Given the description of an element on the screen output the (x, y) to click on. 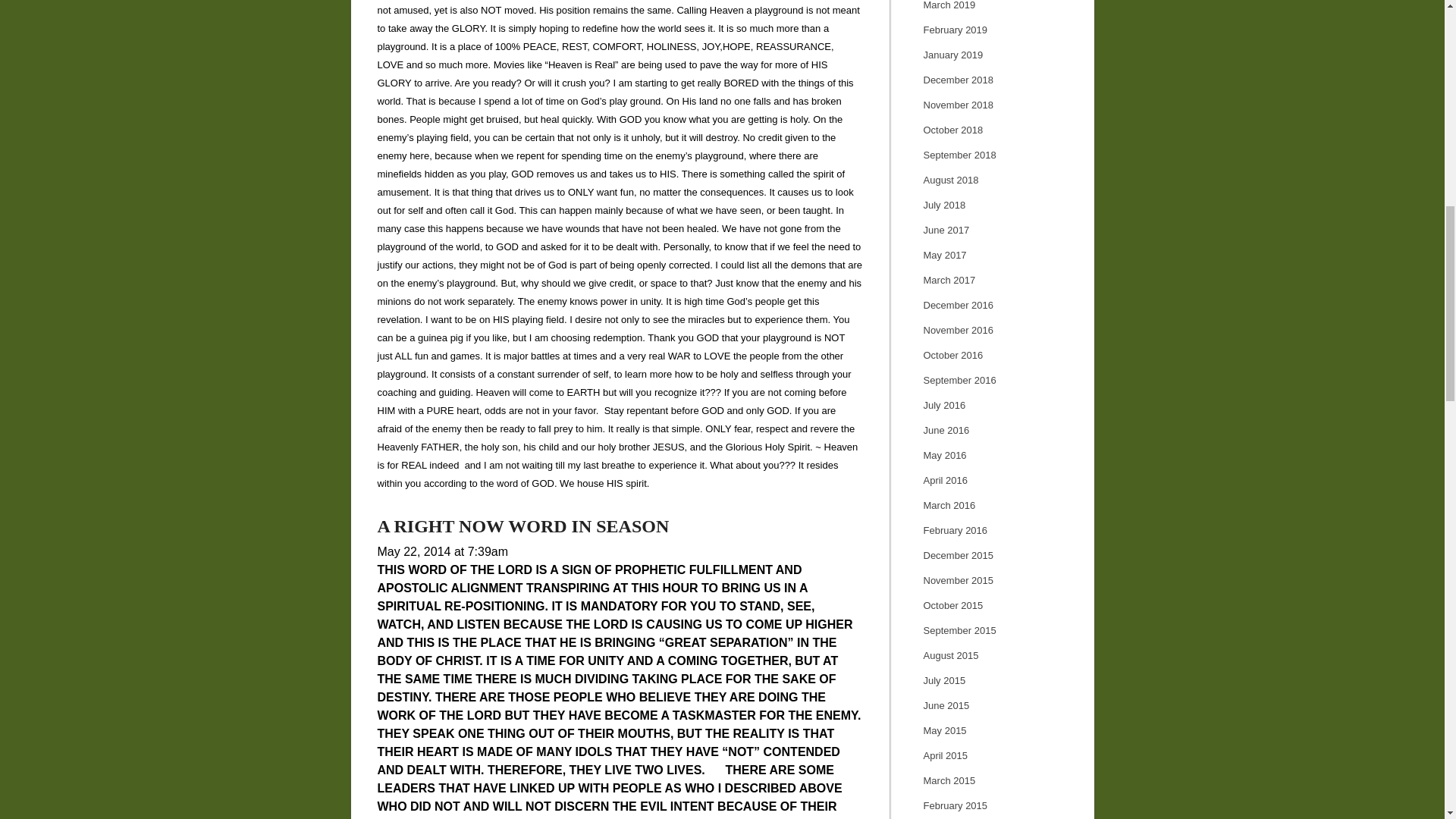
March 2019 (949, 5)
February 2019 (955, 30)
January 2019 (953, 54)
November 2018 (958, 104)
September 2018 (959, 154)
December 2018 (958, 79)
October 2018 (953, 129)
